Given the description of an element on the screen output the (x, y) to click on. 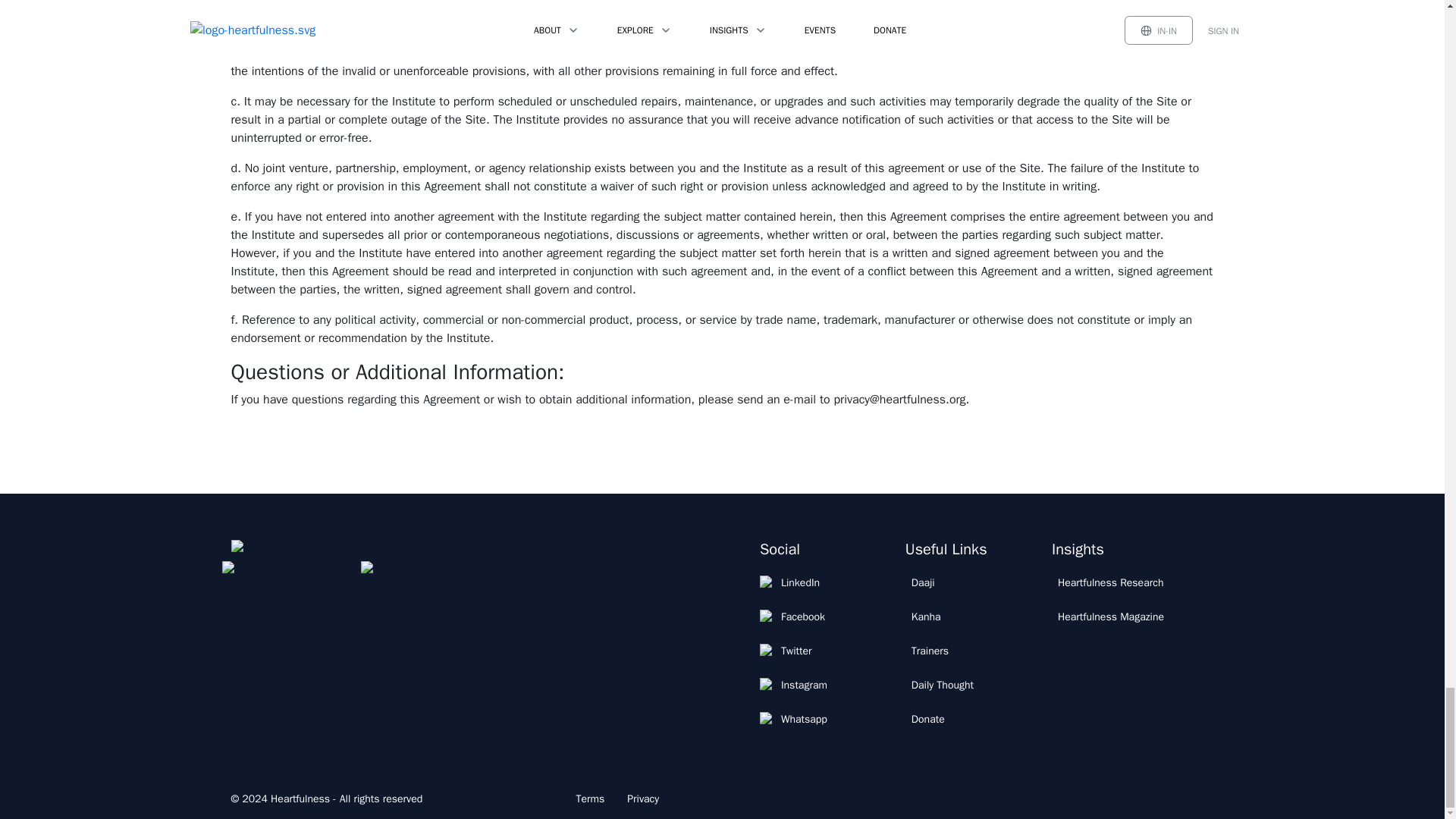
Facebook (796, 616)
Kanha (942, 616)
LinkedIn (796, 582)
Heartfulness Magazine (1110, 616)
Daaji (942, 582)
Twitter (796, 651)
Privacy (642, 798)
Trainers (942, 651)
Daily Thought (942, 685)
Donate (942, 719)
Instagram (796, 685)
Whatsapp (796, 719)
Terms (589, 798)
Heartfulness Research (1110, 582)
